Given the description of an element on the screen output the (x, y) to click on. 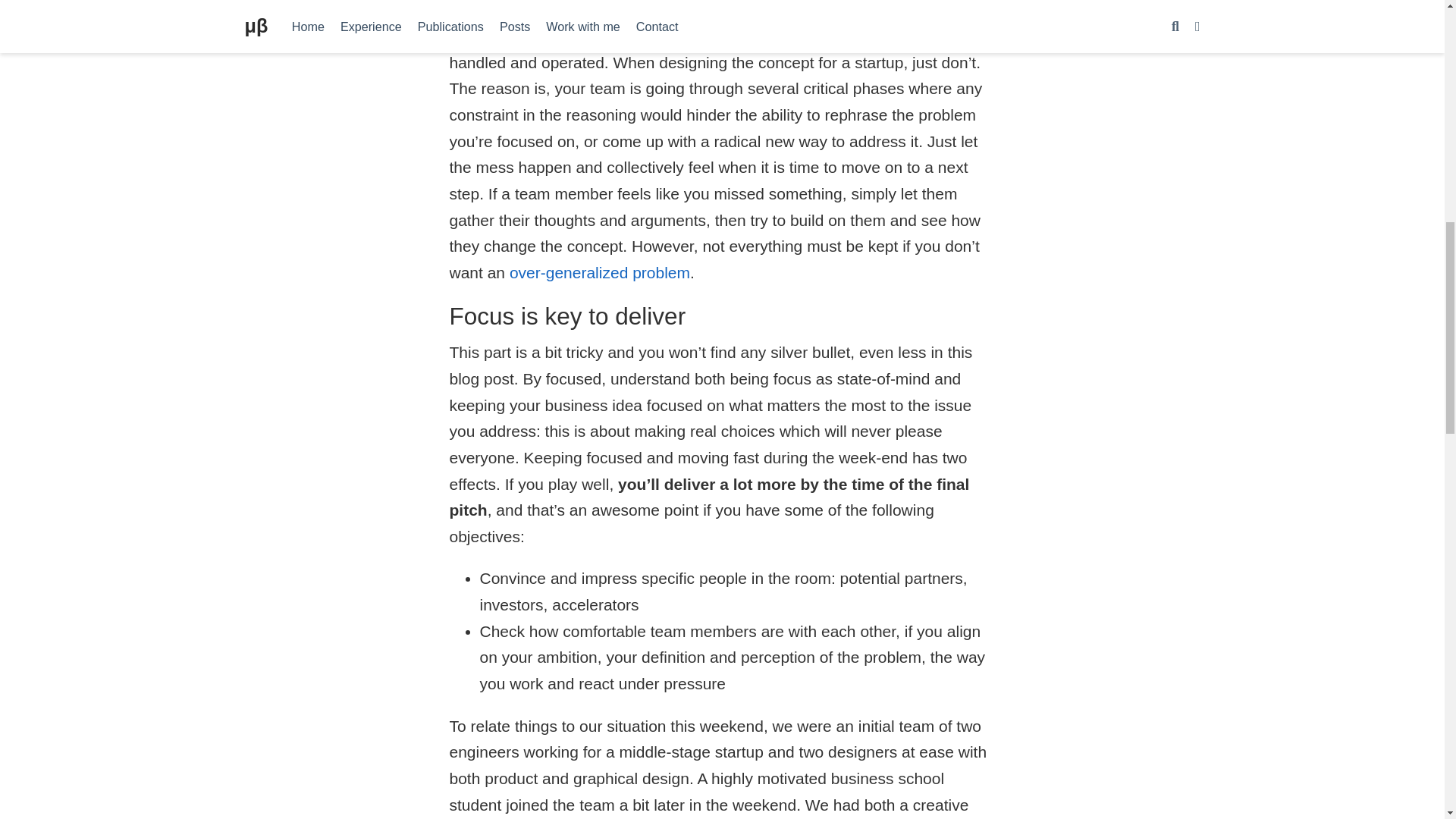
over-generalized problem (599, 272)
